Given the description of an element on the screen output the (x, y) to click on. 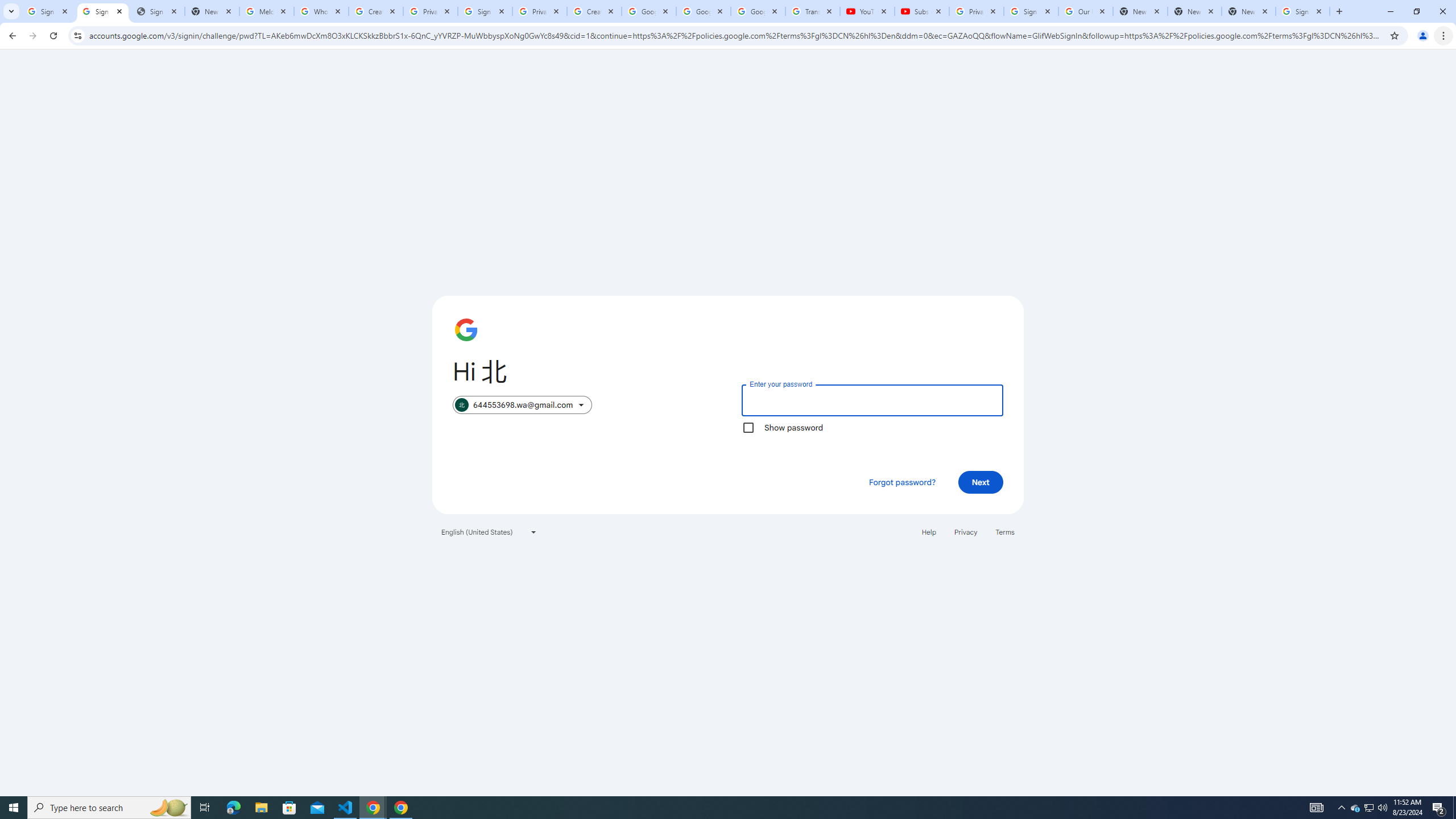
Who is my administrator? - Google Account Help (320, 11)
Sign in - Google Accounts (48, 11)
Subscriptions - YouTube (921, 11)
Create your Google Account (594, 11)
Enter your password (871, 399)
New Tab (1249, 11)
Sign in - Google Accounts (102, 11)
